Given the description of an element on the screen output the (x, y) to click on. 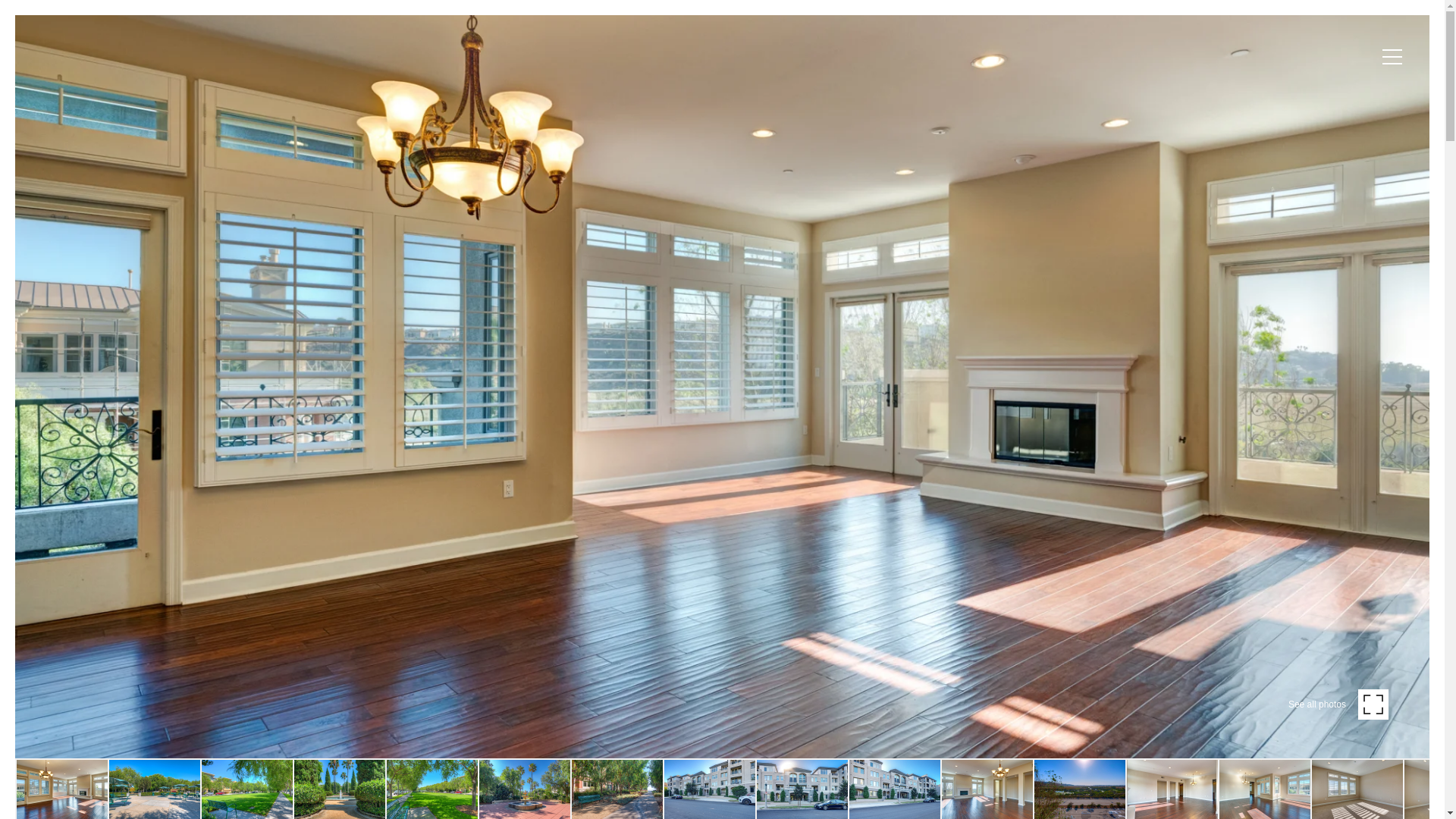
See all photos (1338, 703)
